Given the description of an element on the screen output the (x, y) to click on. 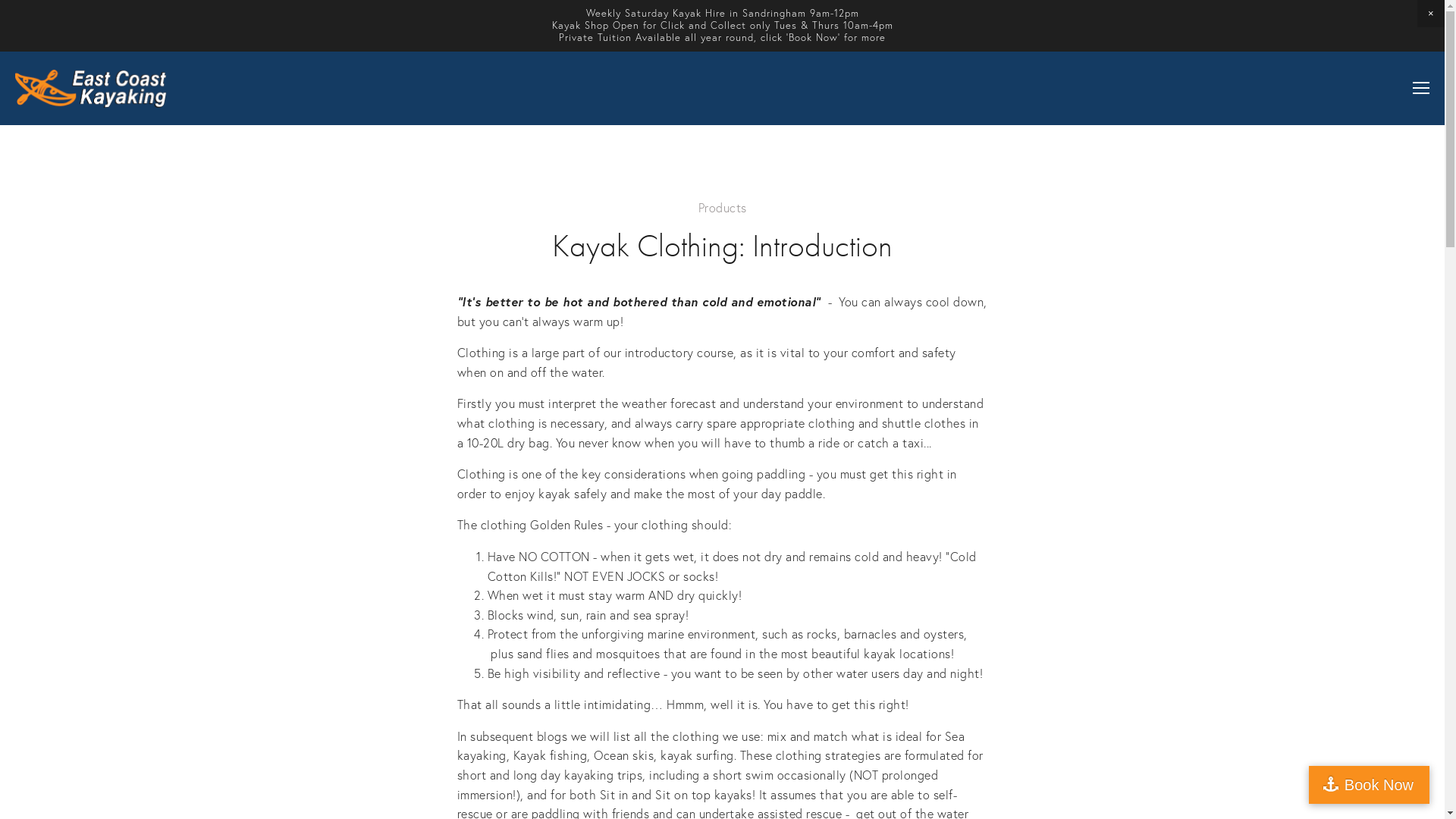
Kayak Clothing: Introduction Element type: text (722, 245)
Products Element type: text (721, 207)
Book Now Element type: text (1368, 784)
